Given the description of an element on the screen output the (x, y) to click on. 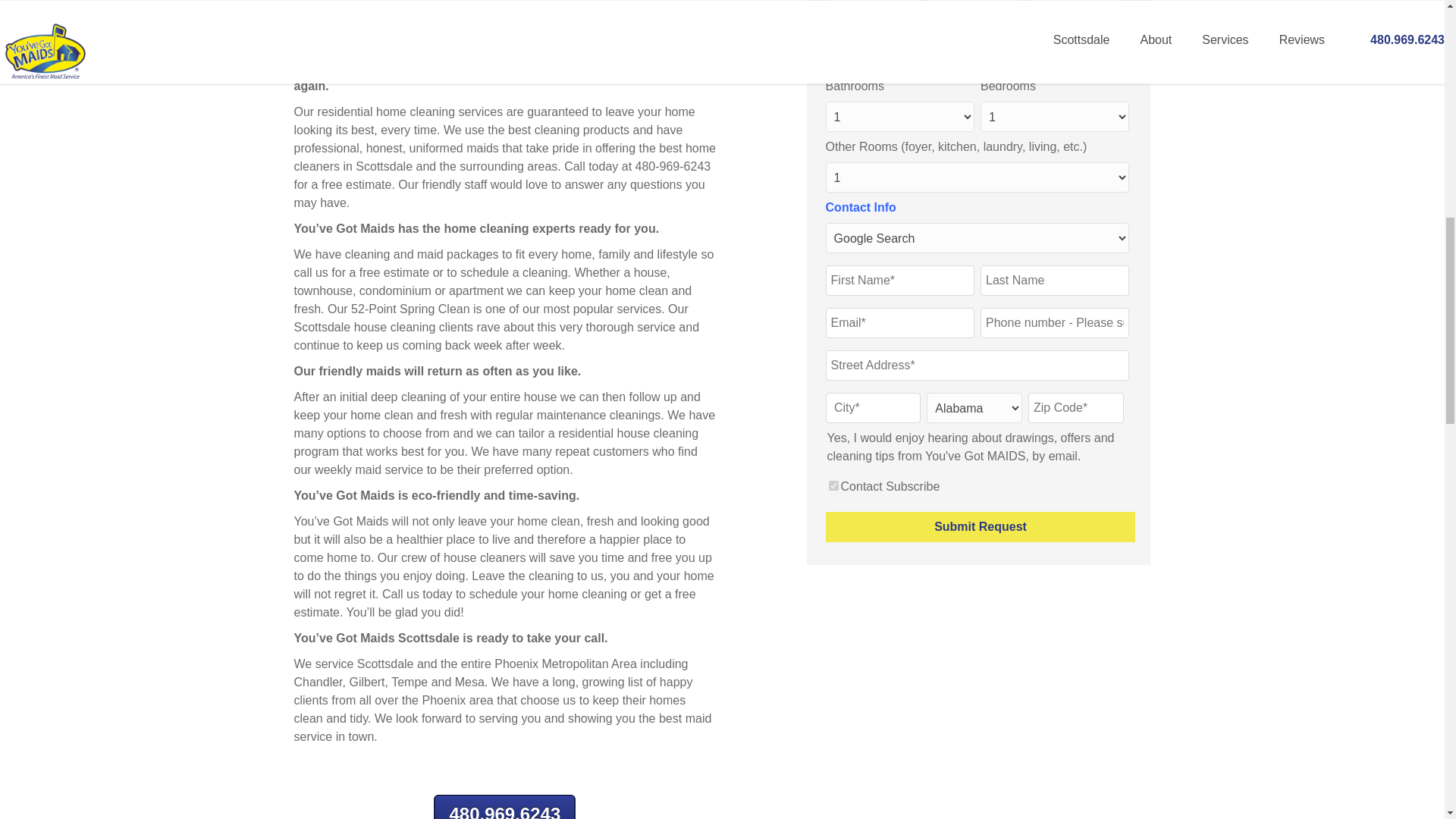
480.969.6243 (504, 806)
Submit Request (980, 526)
480.969.6243 (504, 806)
true (833, 485)
Submit Request (980, 526)
